Given the description of an element on the screen output the (x, y) to click on. 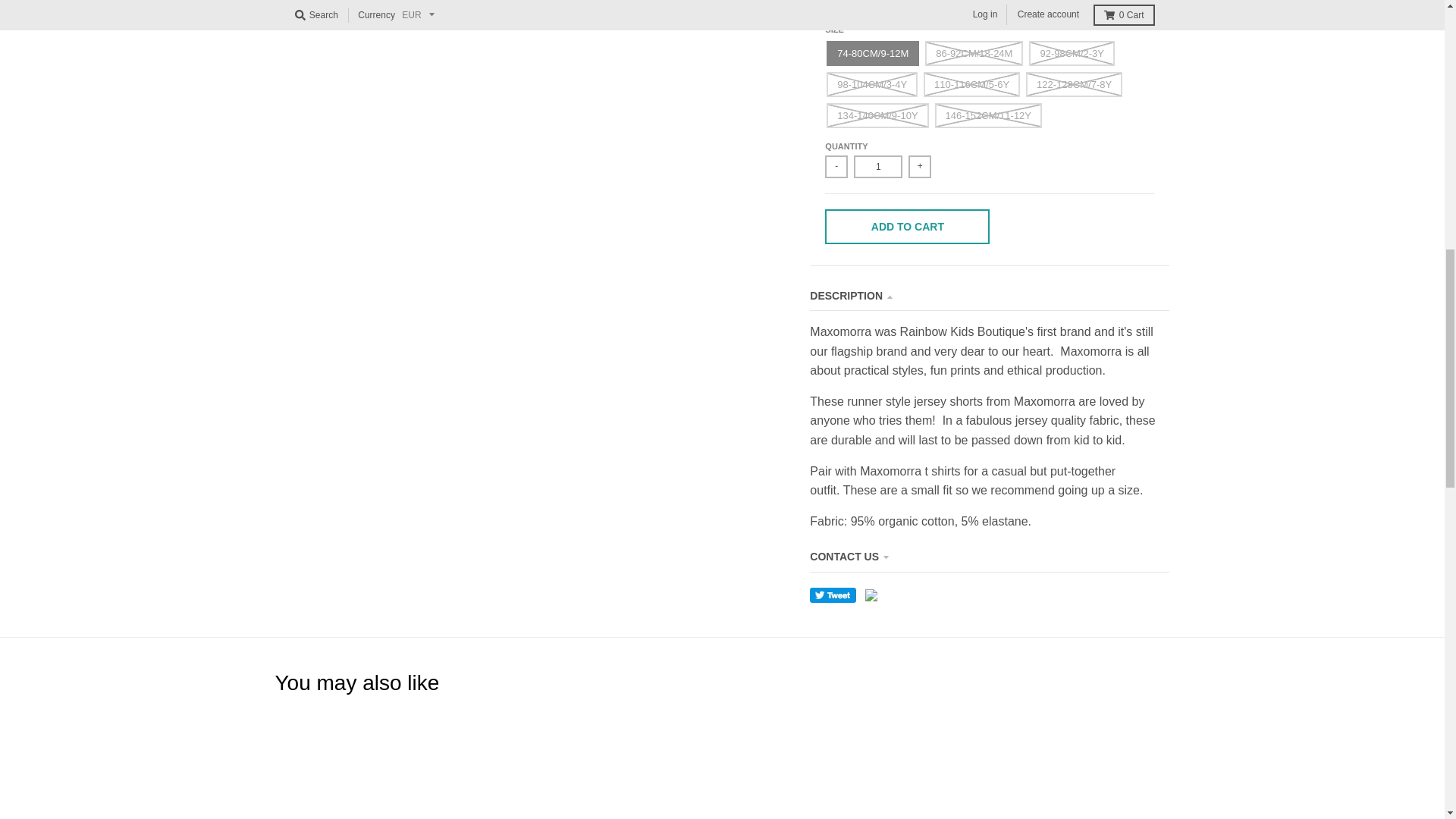
1 (877, 166)
